Given the description of an element on the screen output the (x, y) to click on. 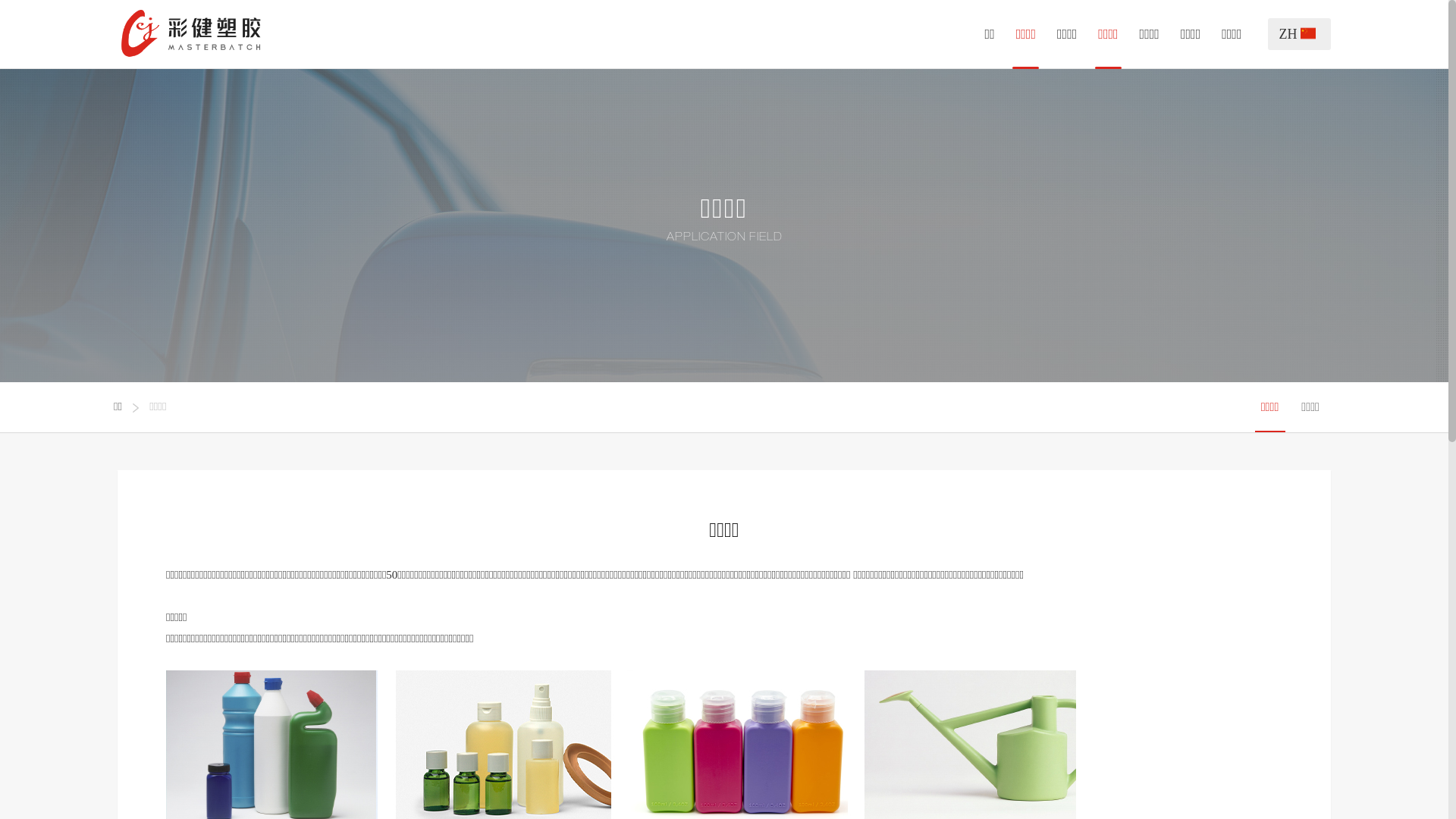
QQ Element type: hover (967, 646)
0769 8777 0836 Element type: text (365, 569)
cj@cjaa.cc Element type: text (352, 651)
18998084836 Element type: text (359, 624)
Wechat Element type: hover (923, 646)
ZH Element type: text (1299, 34)
